Given the description of an element on the screen output the (x, y) to click on. 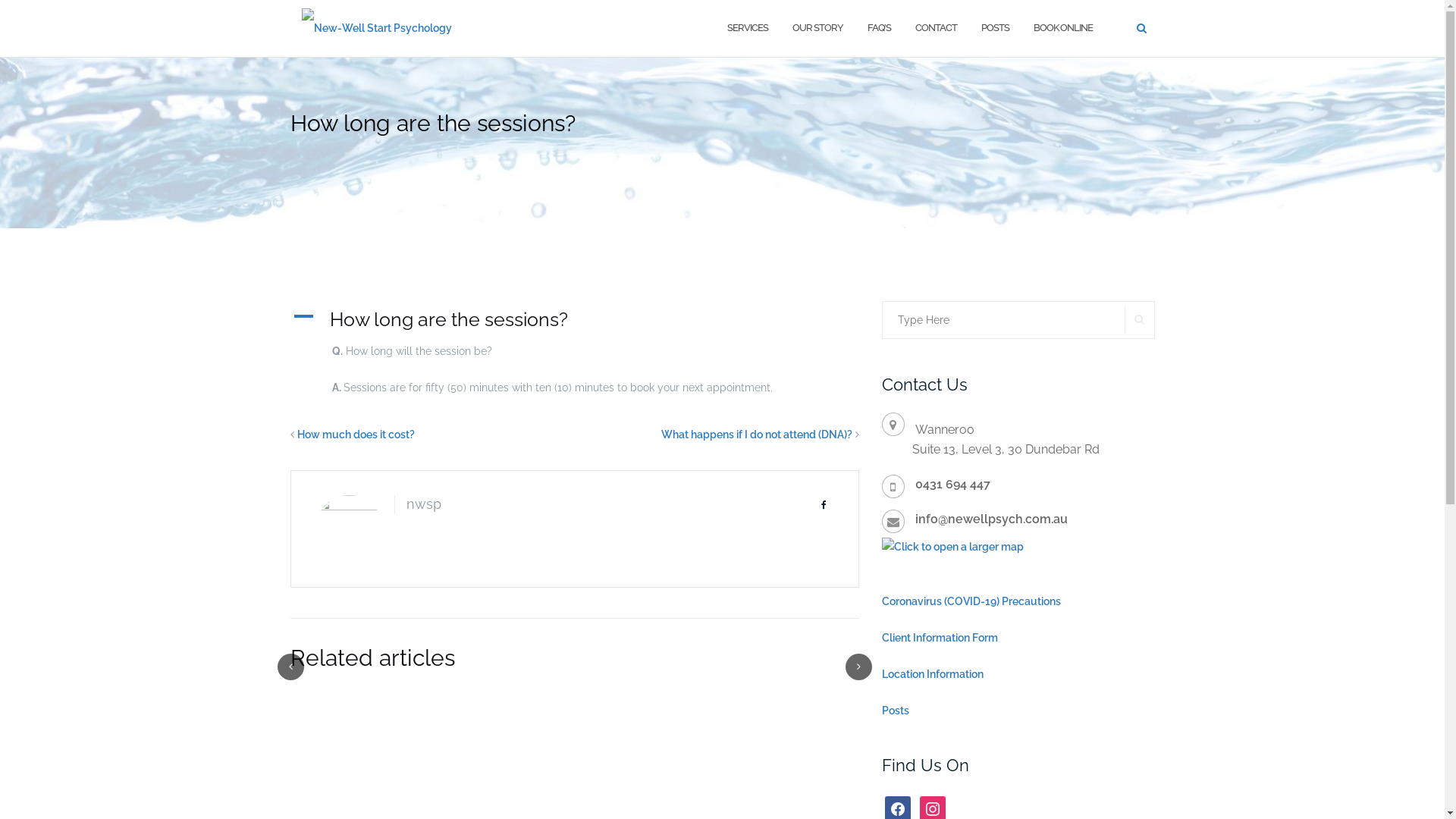
info@newellpsych.com.au Element type: text (990, 518)
facebook Element type: text (897, 808)
SERVICES Element type: text (746, 28)
Click to open a larger map Element type: hover (951, 545)
POSTS Element type: text (995, 28)
instagram Element type: text (931, 808)
Client Information Form Element type: text (939, 637)
0431 694 447 Element type: text (951, 483)
Click to open a larger map Element type: hover (951, 546)
CONTACT Element type: text (935, 28)
Posts Element type: text (894, 710)
How much does it cost? Element type: text (355, 434)
BOOK ONLINE Element type: text (1062, 28)
Location Information Element type: text (931, 674)
Coronavirus (COVID-19) Precautions Element type: text (970, 601)
SEARCH Element type: text (1138, 319)
A
How long are the sessions? Element type: text (573, 319)
What happens if I do not attend (DNA)? Element type: text (756, 434)
OUR STORY Element type: text (816, 28)
